Given the description of an element on the screen output the (x, y) to click on. 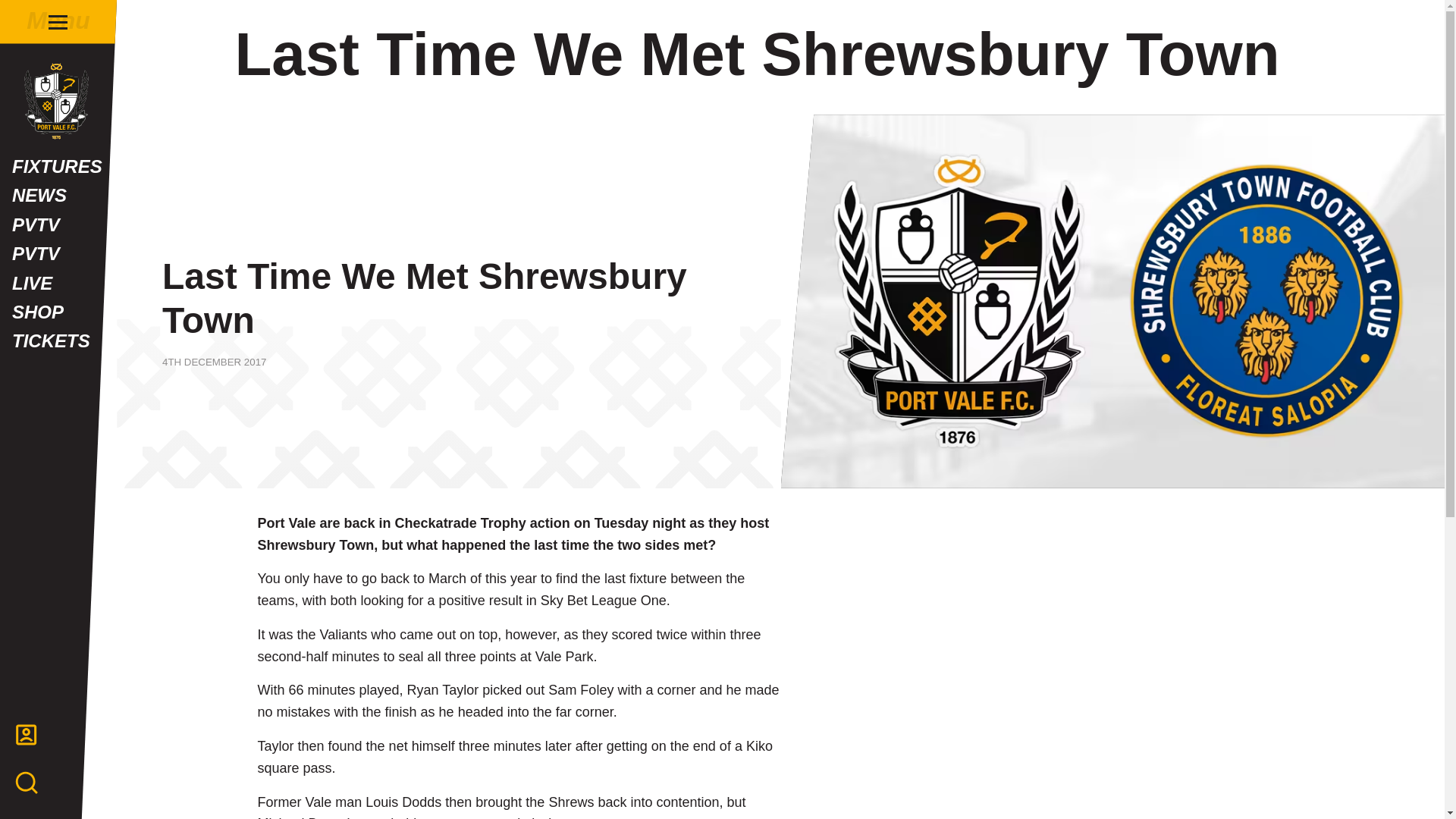
FIXTURES (57, 166)
Menu (58, 21)
